Given the description of an element on the screen output the (x, y) to click on. 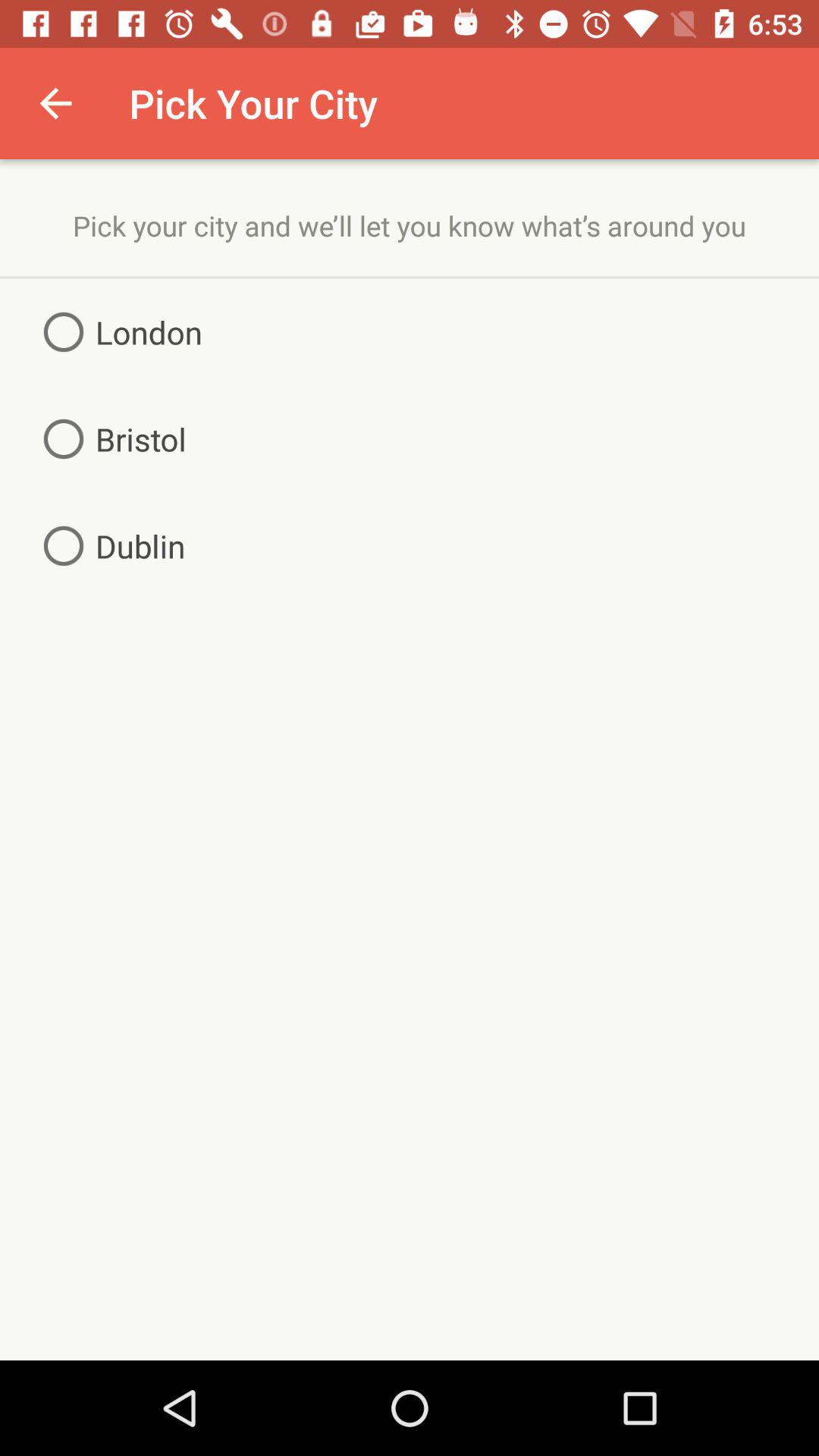
launch bristol (108, 438)
